Given the description of an element on the screen output the (x, y) to click on. 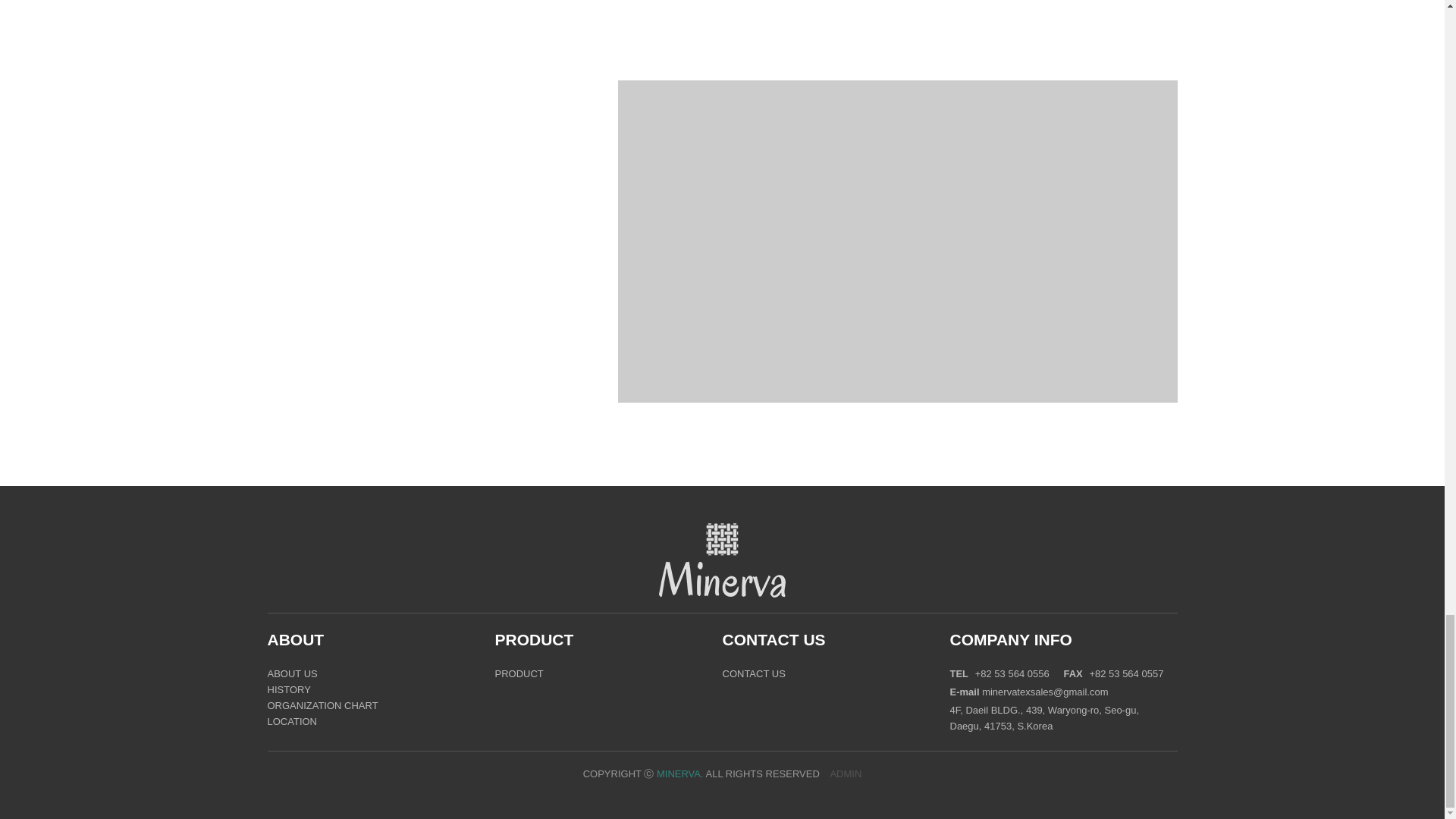
COMPANY INFO (1010, 639)
ABOUT US (291, 674)
ORGANIZATION CHART (321, 706)
ABOUT (294, 639)
PRODUCT (534, 639)
PRODUCT (519, 674)
HISTORY (288, 690)
ONLINE CONSULTING (349, 340)
CONTACT US (773, 639)
LOCATION (291, 722)
ADMIN (845, 774)
CONTACT US (753, 674)
